Given the description of an element on the screen output the (x, y) to click on. 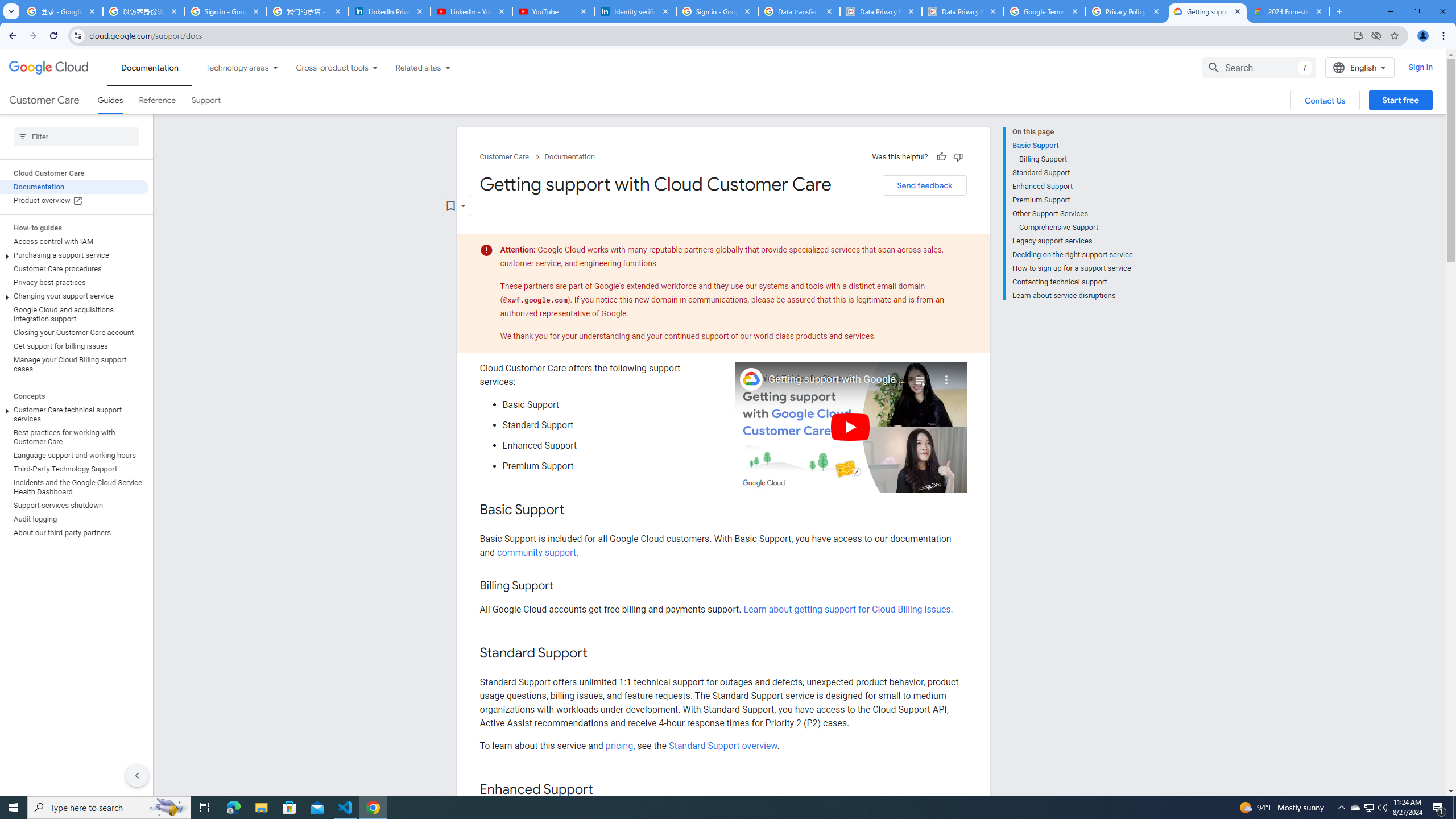
Get support for billing issues (74, 345)
Incidents and the Google Cloud Service Health Dashboard (74, 486)
Copy link to this section: Billing Support (564, 585)
YouTube (552, 11)
Purchasing a support service (74, 255)
Premium Support (1071, 200)
Comprehensive Support (1075, 227)
Dropdown menu for Technology areas (274, 67)
Access control with IAM (74, 241)
Data Privacy Framework (880, 11)
Changing your support service (74, 296)
